Given the description of an element on the screen output the (x, y) to click on. 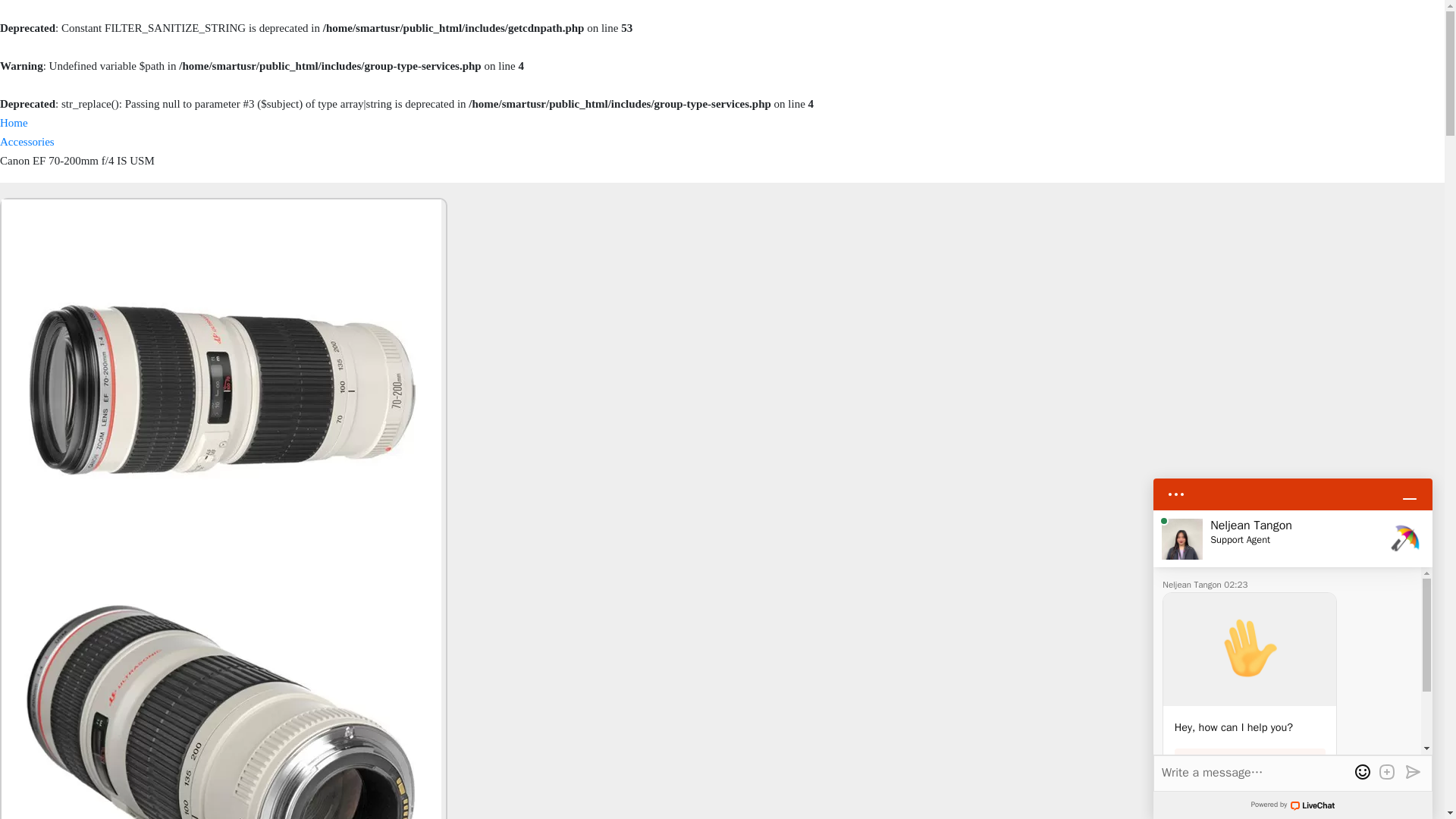
LiveChat chat widget (1292, 642)
Accessories (27, 141)
Home (13, 122)
presepective 2 (221, 694)
